Given the description of an element on the screen output the (x, y) to click on. 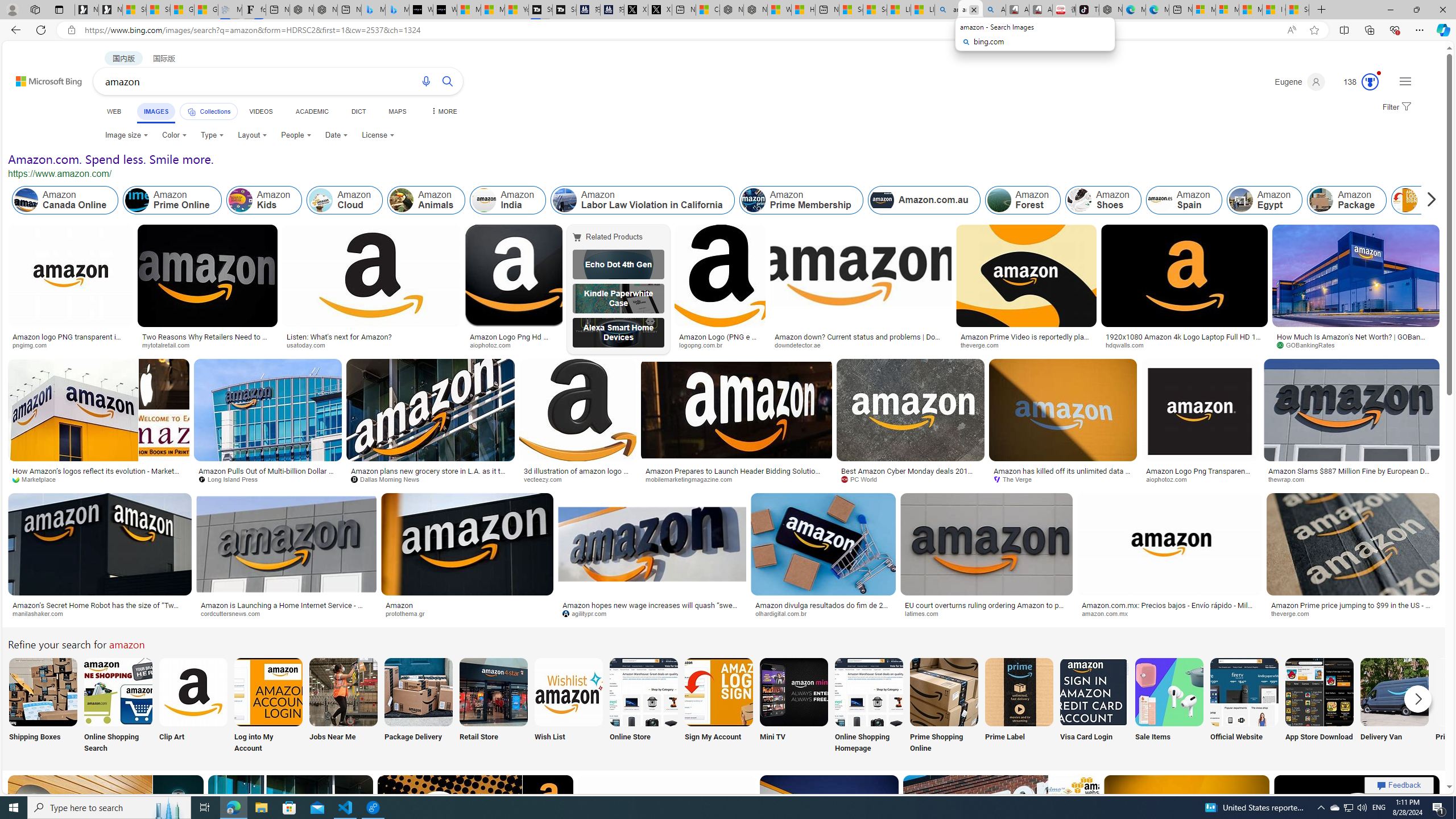
Amazon Sign in My Account (718, 691)
Amazon Wish List (568, 691)
agilitypr.com (588, 612)
License (377, 135)
Long Island Press (232, 479)
Class: medal-circled (1369, 81)
pngimg.com (34, 344)
